Given the description of an element on the screen output the (x, y) to click on. 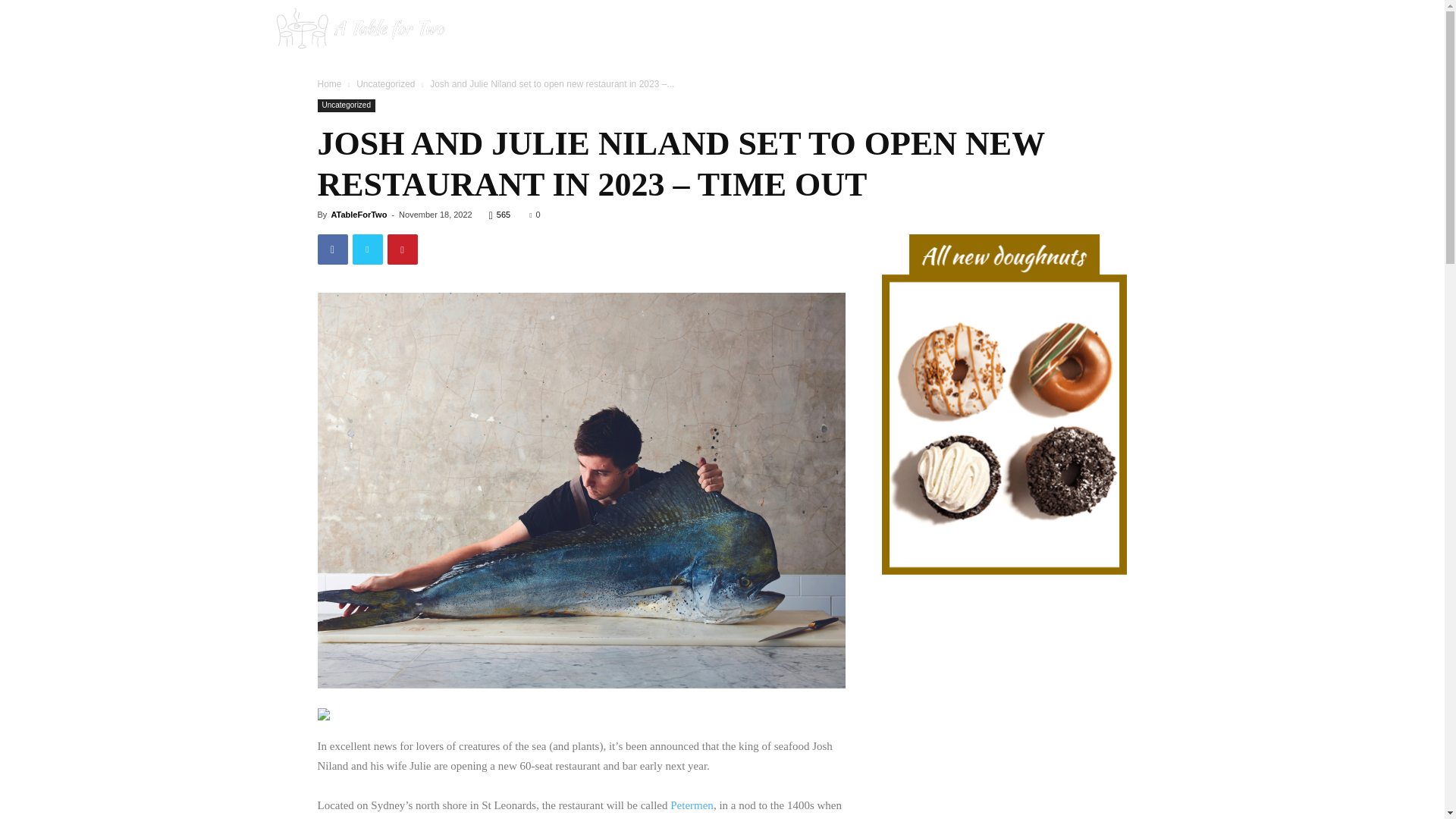
Petermen (691, 805)
BLOG (978, 30)
HOME (909, 30)
Instagram (1140, 30)
Twitter (1165, 30)
Facebook (1114, 30)
ATableForTwo (358, 214)
Uncategorized (345, 105)
Atablefortwo.com.au (358, 30)
Uncategorized (385, 83)
0 (534, 214)
ABOUT (1051, 30)
View all posts in Uncategorized (385, 83)
Home (328, 83)
